Given the description of an element on the screen output the (x, y) to click on. 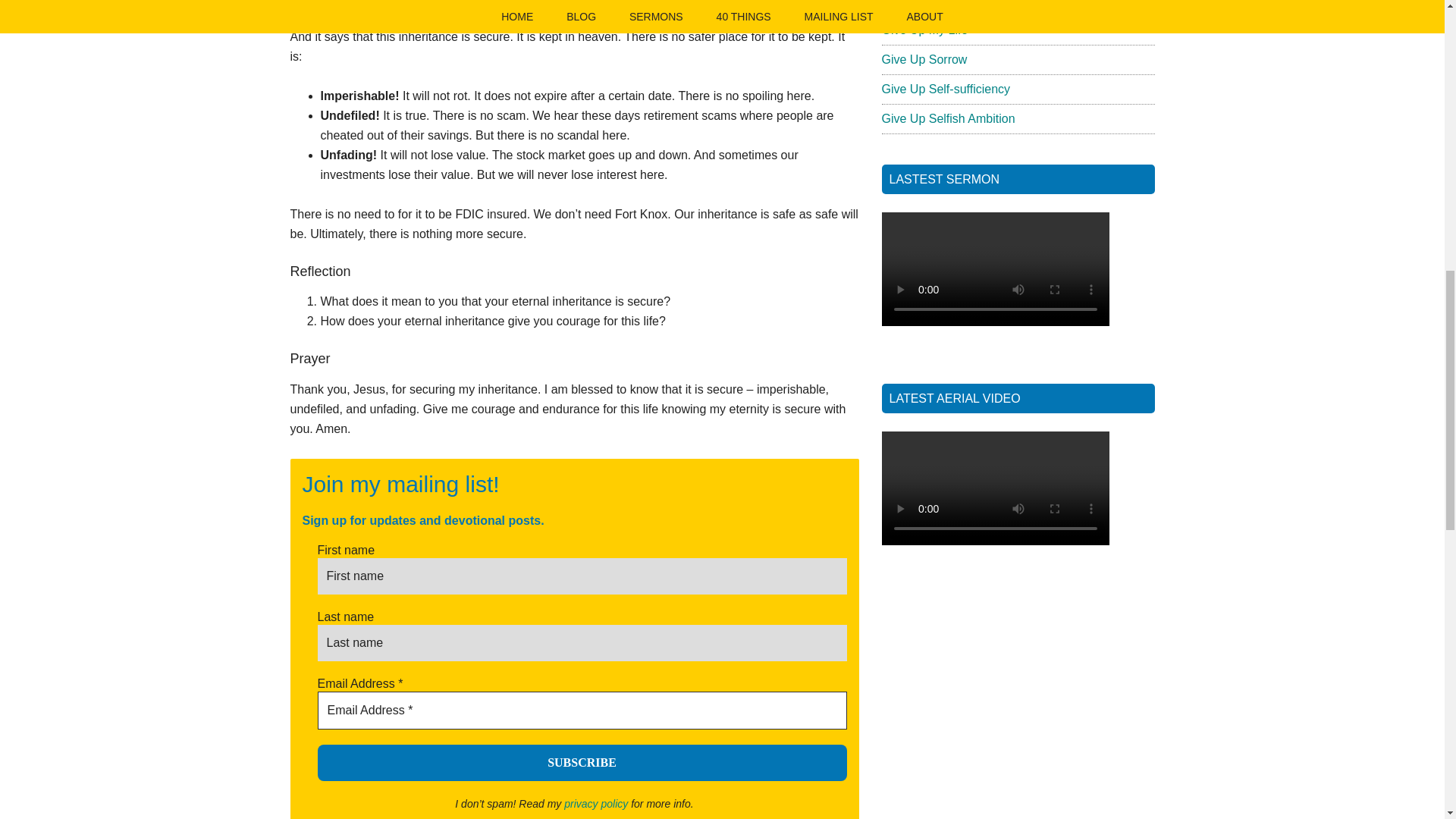
Give Up Sorrow (923, 59)
Give Up My Life (924, 29)
Last name (581, 642)
Give Up Selfish Ambition (947, 118)
Subscribe (581, 762)
Email Address (581, 710)
Give Up Self-sufficiency (945, 88)
7 Ways to Overcome Being Busy and Accomplishing Nothing (980, 3)
privacy policy (595, 803)
First name (581, 575)
